Given the description of an element on the screen output the (x, y) to click on. 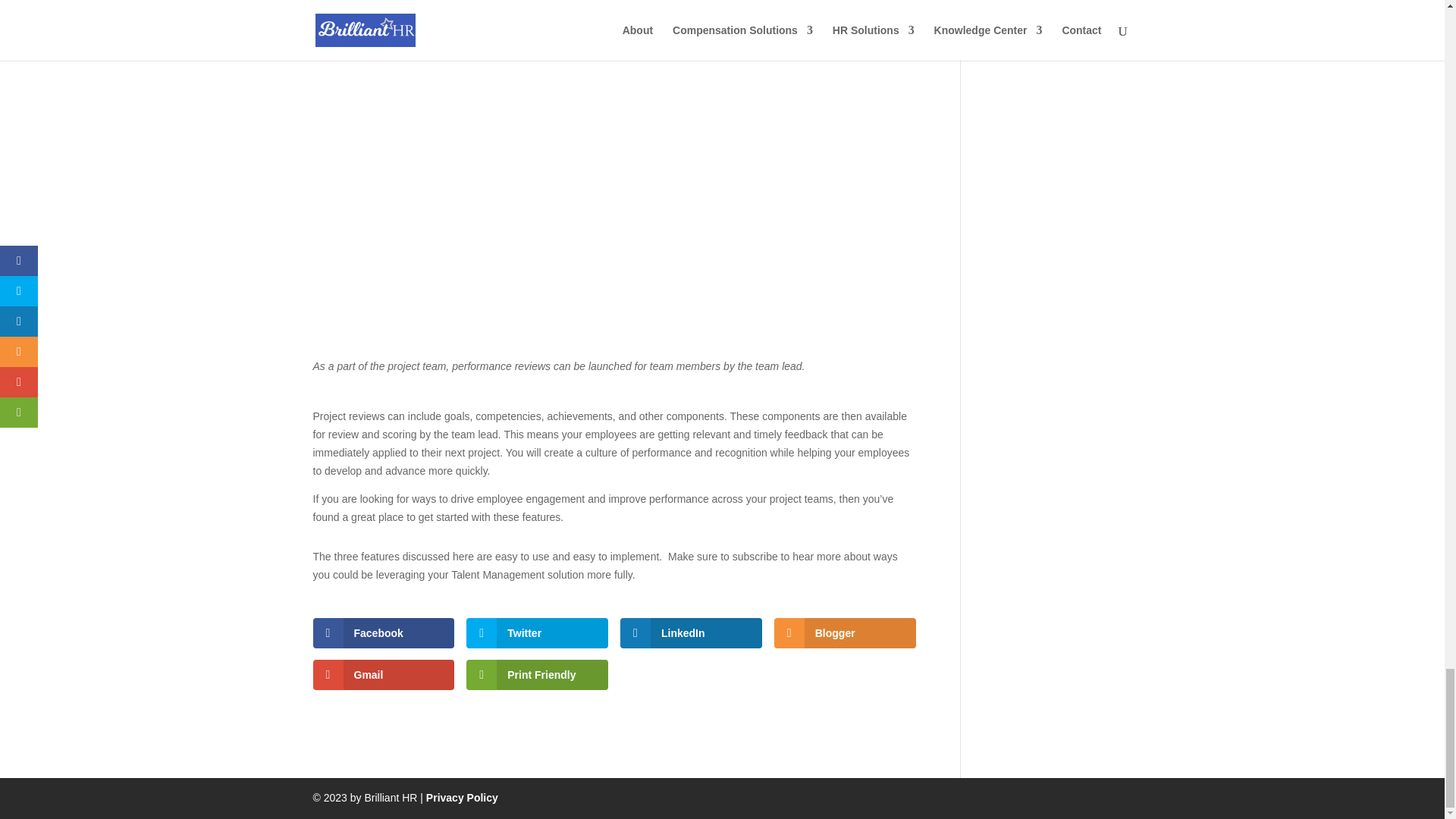
Gmail (383, 675)
Twitter (536, 633)
Blogger (844, 633)
Print Friendly (536, 675)
Facebook (383, 633)
LinkedIn (690, 633)
